Given the description of an element on the screen output the (x, y) to click on. 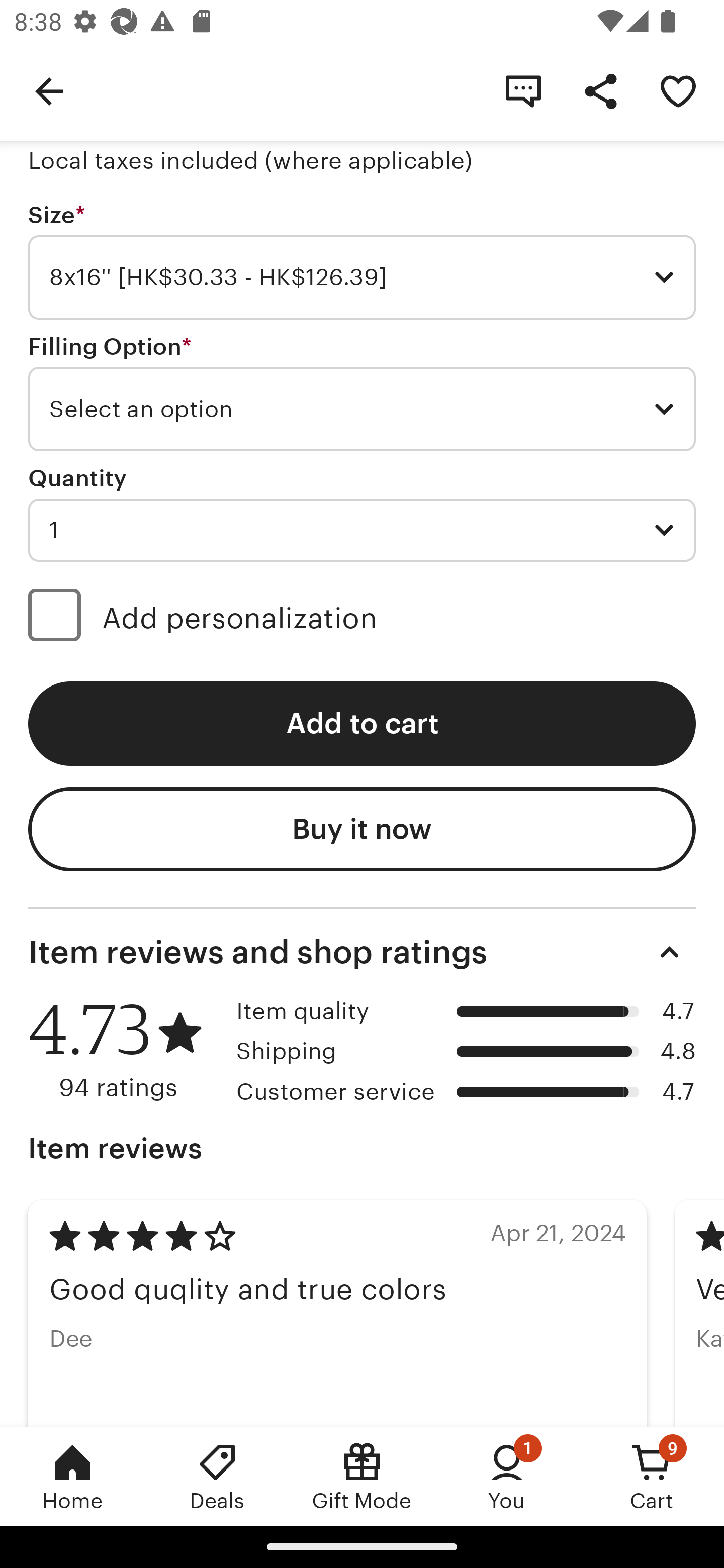
Navigate up (49, 90)
Contact shop (523, 90)
Share (600, 90)
Size * Required 8x16'' [HK$30.33 - HK$126.39] (361, 260)
8x16'' [HK$30.33 - HK$126.39] (361, 277)
Filling Option * Required Select an option (361, 392)
Select an option (361, 408)
Quantity (77, 477)
1 (361, 529)
Add personalization (optional) Add personalization (362, 617)
Add to cart (361, 723)
Buy it now (361, 829)
Item reviews and shop ratings (362, 952)
4.73 94 ratings (125, 1050)
Deals (216, 1475)
Gift Mode (361, 1475)
You, 1 new notification You (506, 1475)
Cart, 9 new notifications Cart (651, 1475)
